Given the description of an element on the screen output the (x, y) to click on. 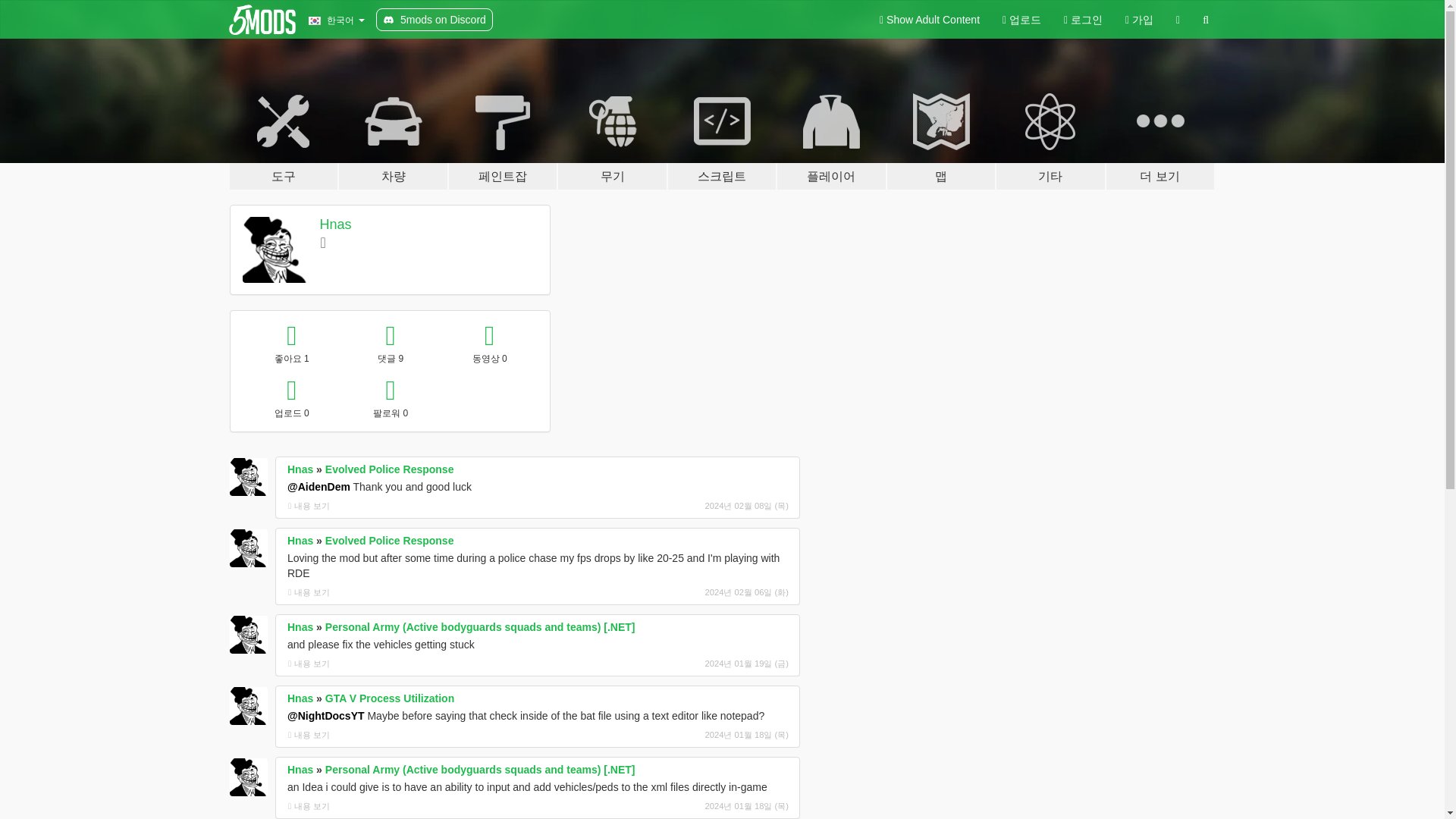
Show Adult Content (929, 19)
Steam (323, 242)
Light mode (929, 19)
5mods on Discord (434, 19)
Dark mode (1177, 19)
